Given the description of an element on the screen output the (x, y) to click on. 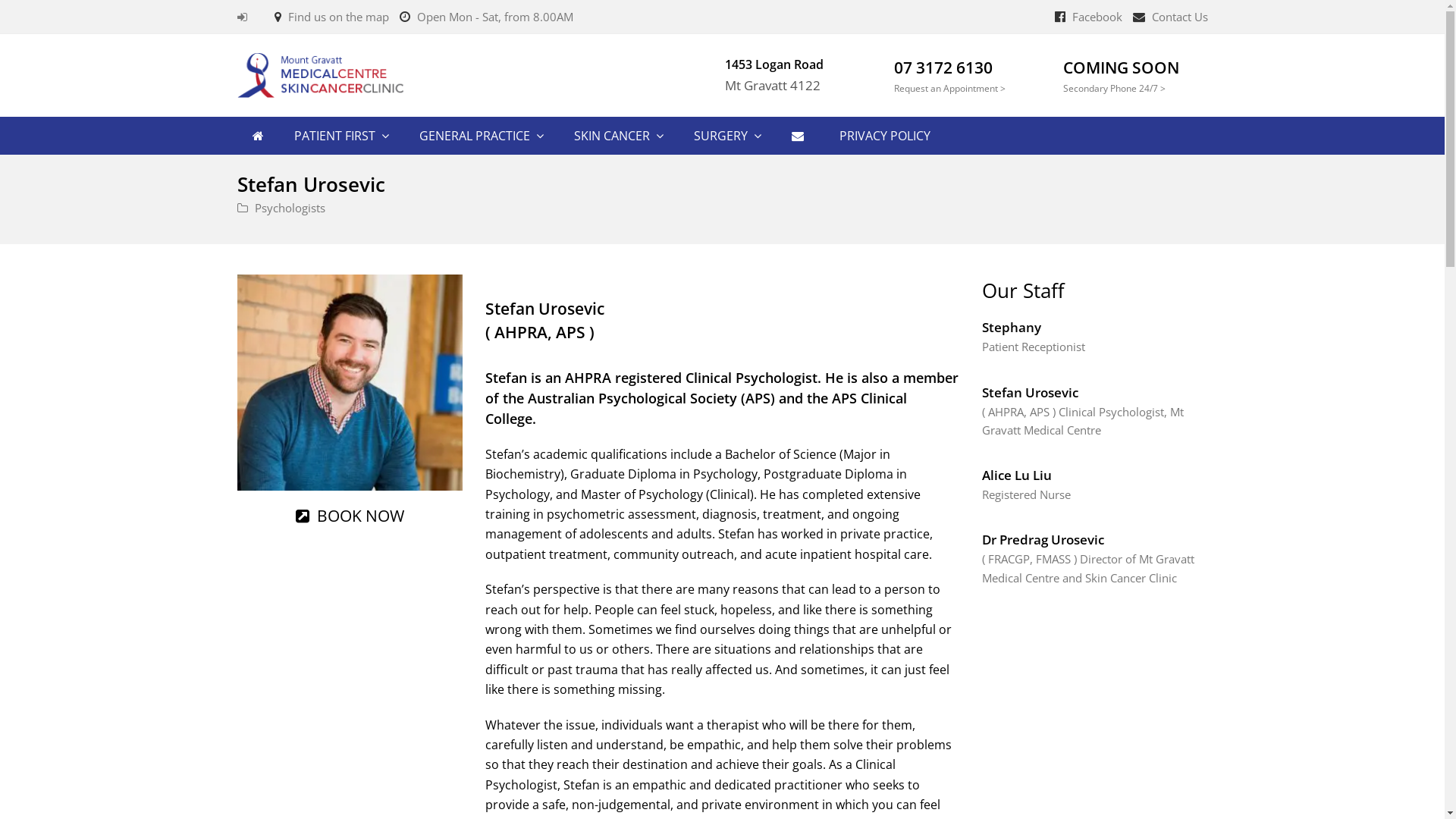
Dr Predrag Urosevic Element type: text (1043, 539)
Find us on the map Element type: text (338, 16)
SURGERY Element type: text (726, 135)
Facebook Element type: text (1097, 16)
Stefan Urosevic Element type: text (1030, 392)
Alice Lu Liu Element type: text (1016, 474)
Contact Us Element type: text (1179, 16)
SKIN CANCER Element type: text (617, 135)
COMING SOON
Secondary Phone 24/7 > Element type: text (1121, 74)
PRIVACY POLICY Element type: text (884, 135)
07 3172 6130
Request an Appointment > Element type: text (952, 74)
Website Element type: text (349, 512)
Stephany Element type: text (1011, 326)
1453 Logan Road
Mt Gravatt 4122 Element type: text (842, 75)
Psychologists Element type: text (289, 207)
PATIENT FIRST Element type: text (341, 135)
GENERAL PRACTICE Element type: text (480, 135)
